Given the description of an element on the screen output the (x, y) to click on. 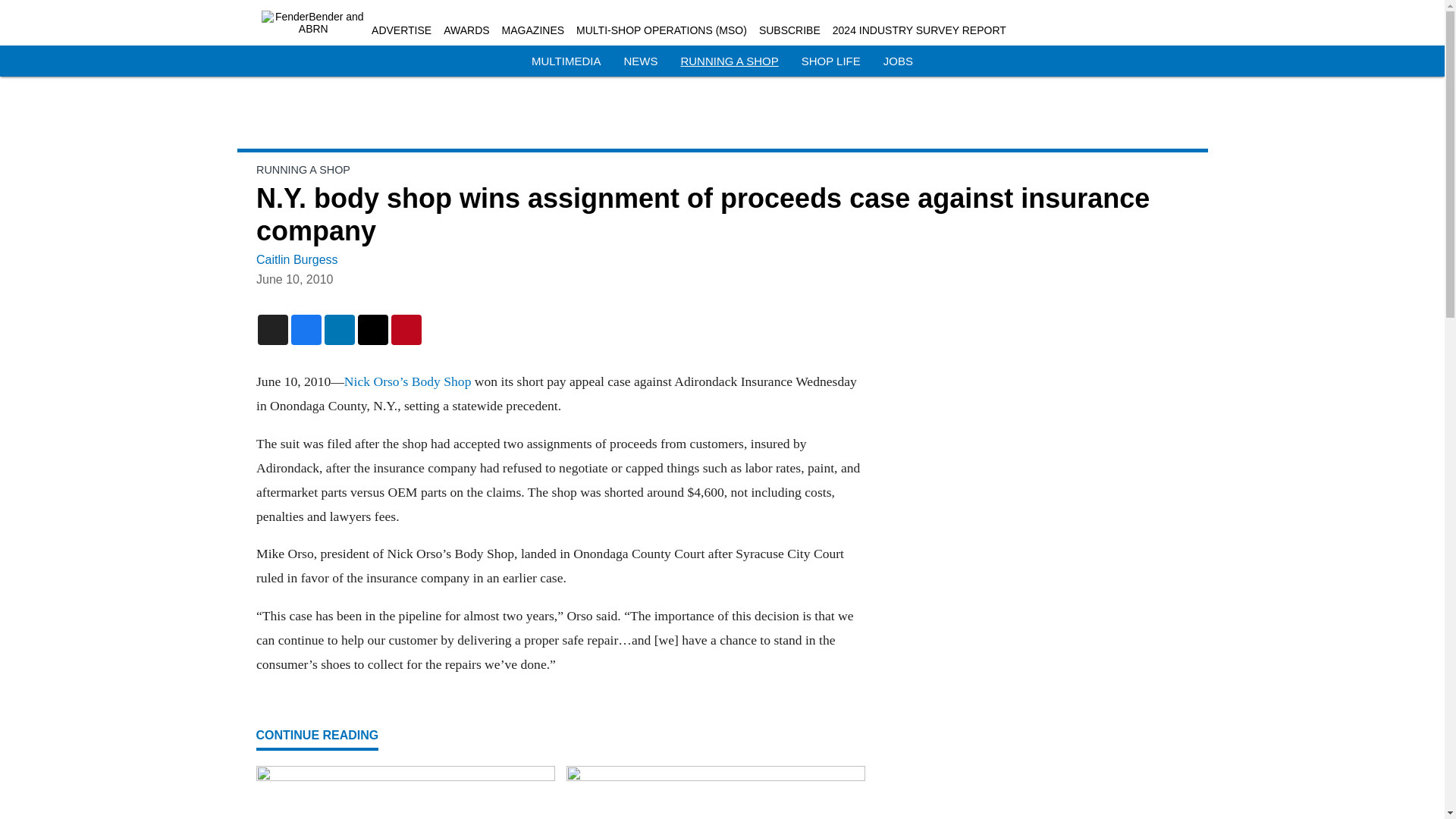
SUBSCRIBE (789, 30)
AWARDS (466, 30)
JOBS (897, 60)
Caitlin Burgess (296, 259)
ADVERTISE (400, 30)
SHOP LIFE (831, 60)
RUNNING A SHOP (728, 60)
MULTIMEDIA (565, 60)
NEWS (640, 60)
MAGAZINES (533, 30)
RUNNING A SHOP (303, 169)
2024 INDUSTRY SURVEY REPORT (919, 30)
